Given the description of an element on the screen output the (x, y) to click on. 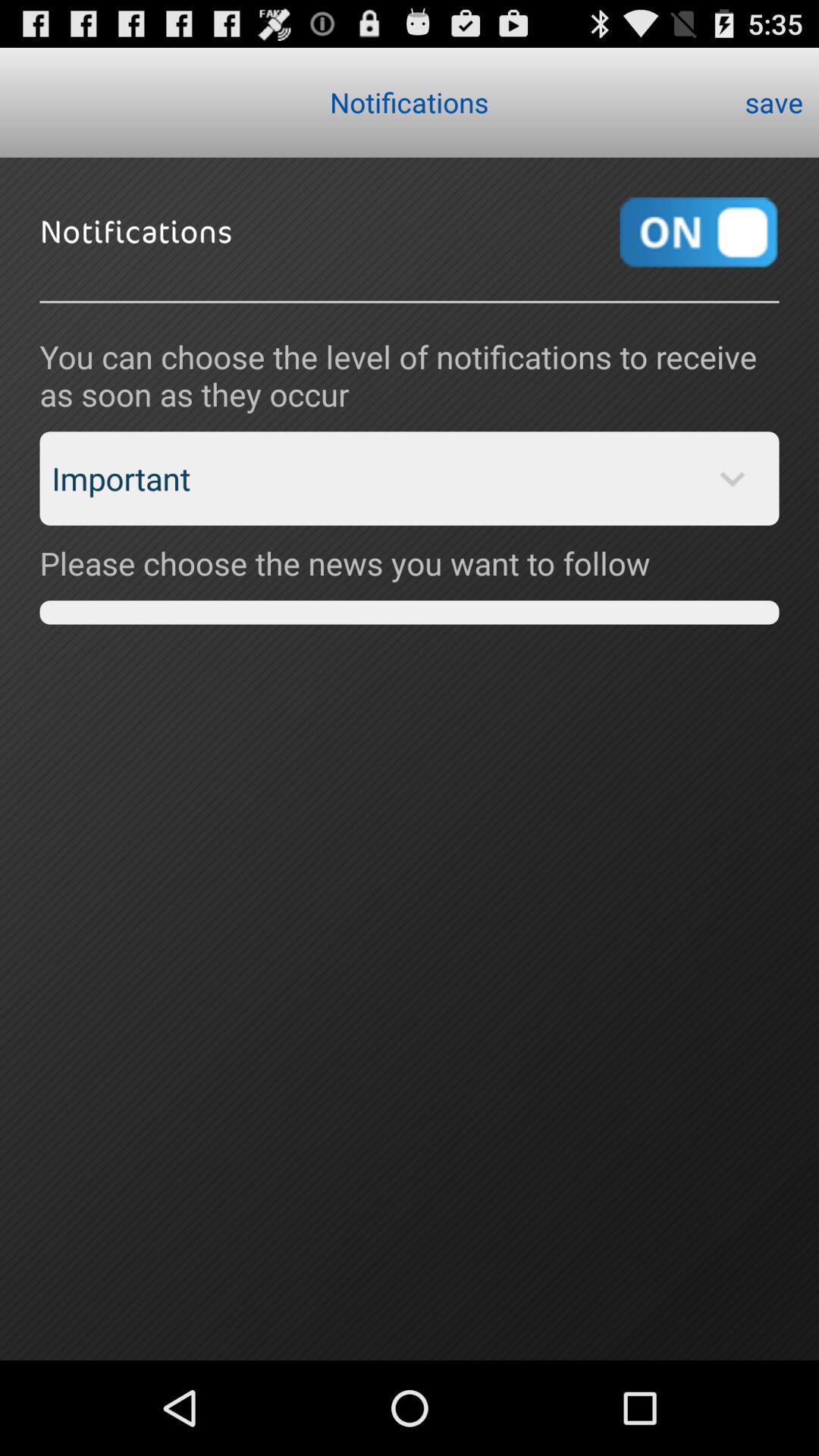
scroll until the important button (409, 478)
